Given the description of an element on the screen output the (x, y) to click on. 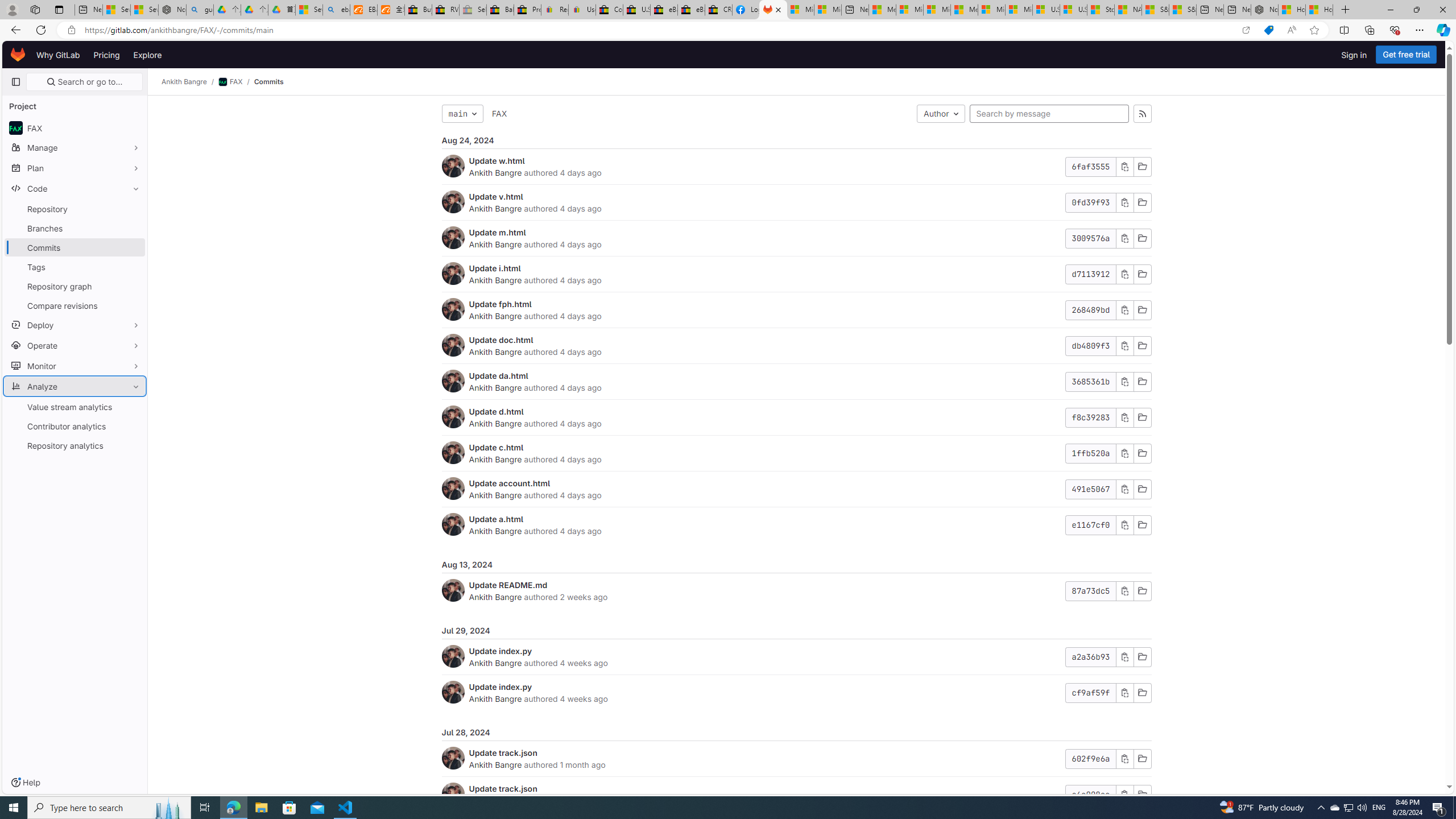
Jul 28, 2024 (796, 732)
Commits feed (1141, 113)
Update w.htmlAnkith Bangre authored 4 days ago6faf3555 (796, 167)
Plan (74, 167)
Update doc.html (500, 339)
Update w.html (496, 160)
Branches (74, 227)
Get free trial (1406, 54)
Repository (74, 208)
Manage (74, 147)
Ankith Bangre (495, 764)
Repository analytics (74, 445)
Pricing (106, 54)
